Given the description of an element on the screen output the (x, y) to click on. 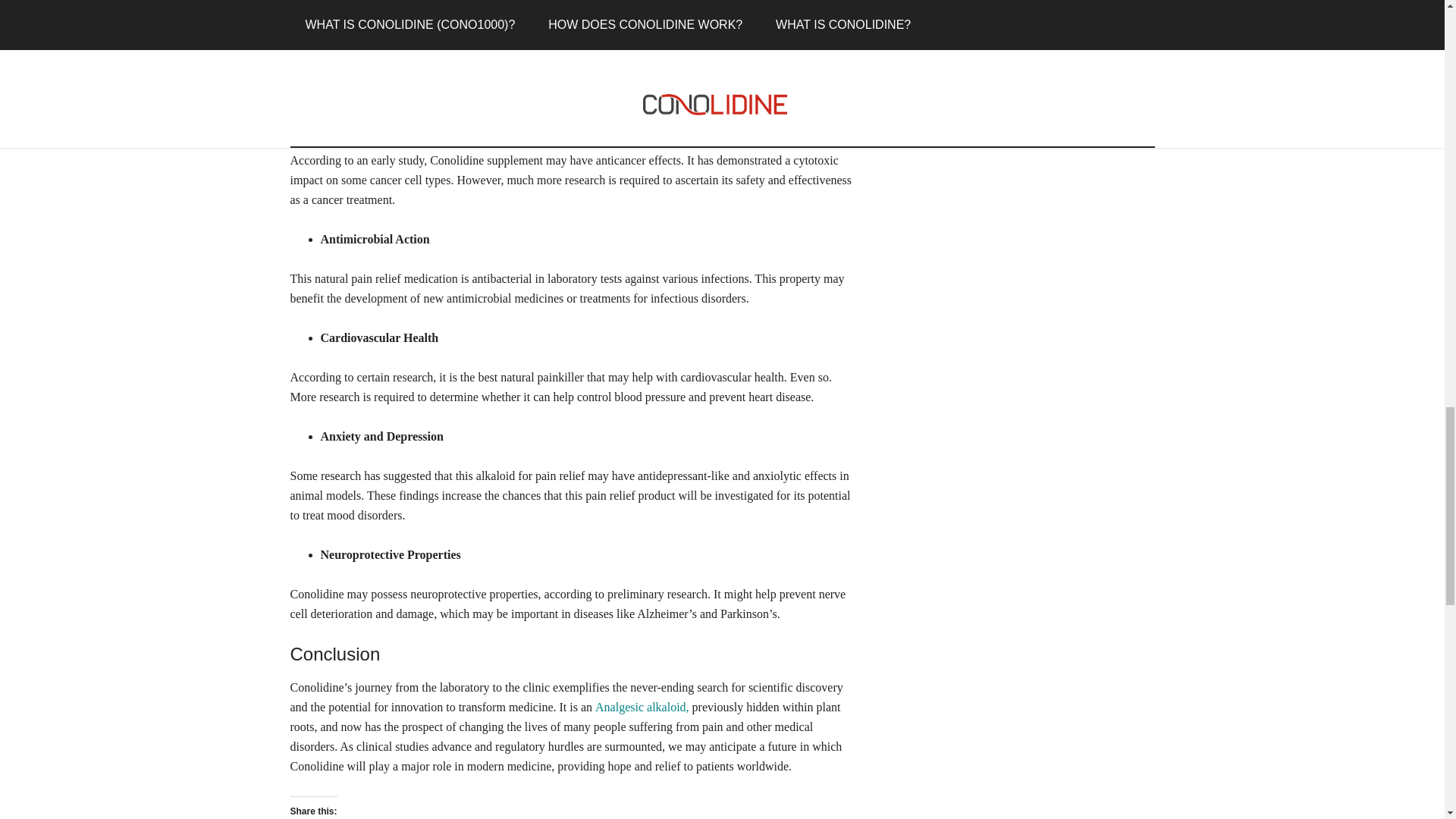
Conolidine pain reliever (403, 81)
Analgesic alkaloid, (641, 707)
